Given the description of an element on the screen output the (x, y) to click on. 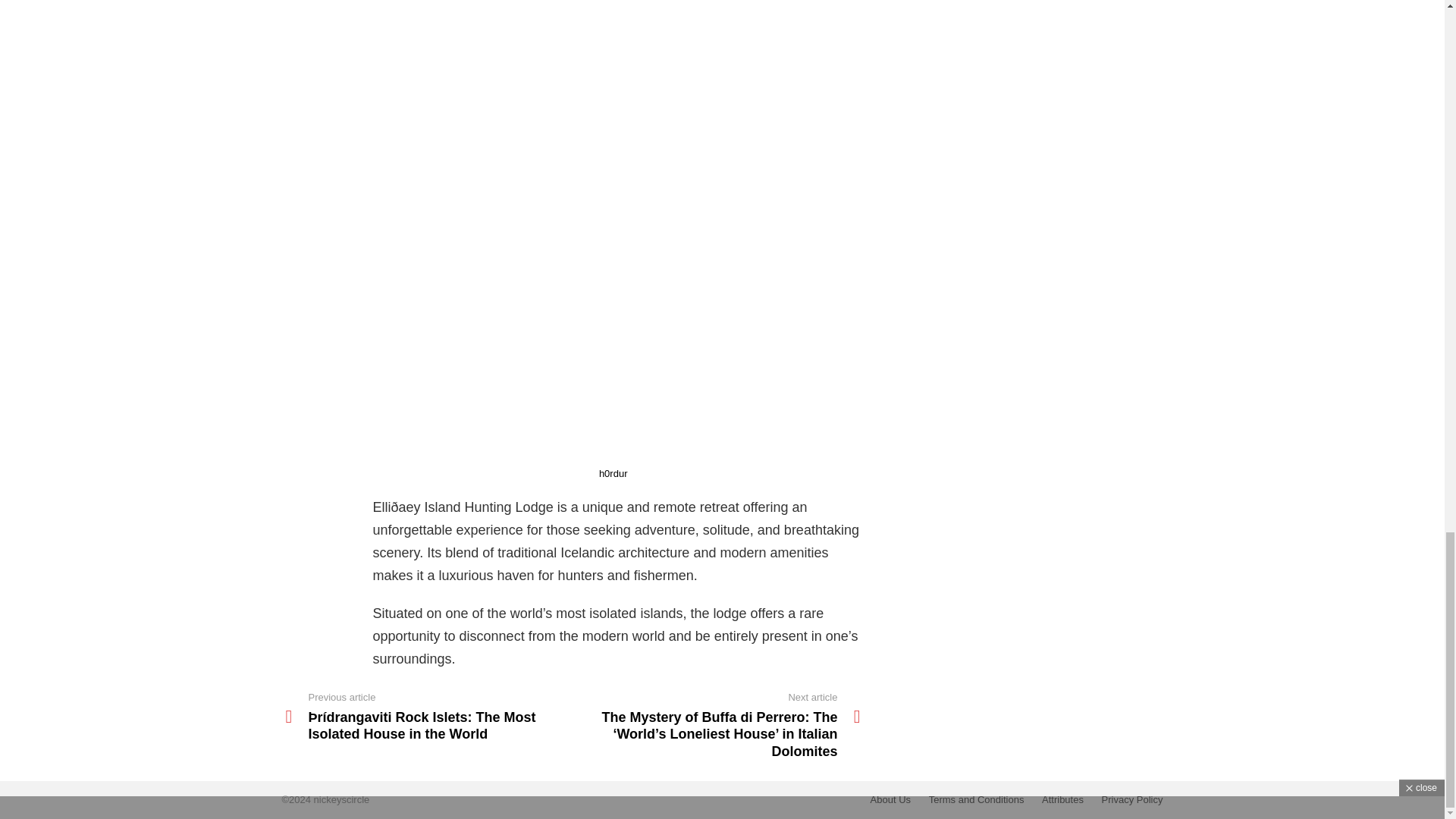
Privacy Policy (1132, 799)
Terms and Conditions (976, 799)
Attributes (1061, 799)
h0rdur (612, 473)
About Us (890, 799)
